Given the description of an element on the screen output the (x, y) to click on. 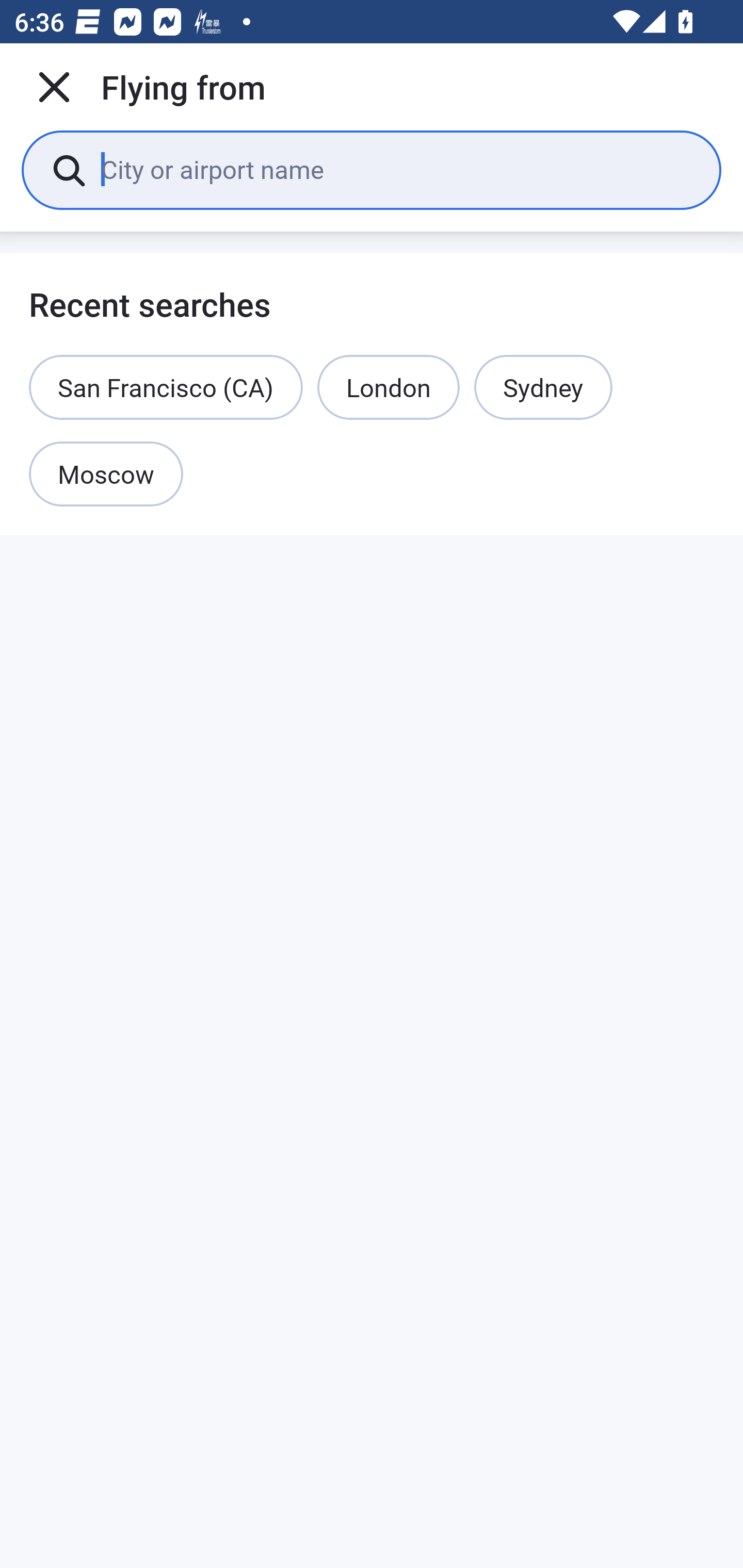
City or airport name (396, 169)
San Francisco (CA) (165, 387)
London (388, 387)
Sydney (543, 387)
Moscow (105, 474)
